Given the description of an element on the screen output the (x, y) to click on. 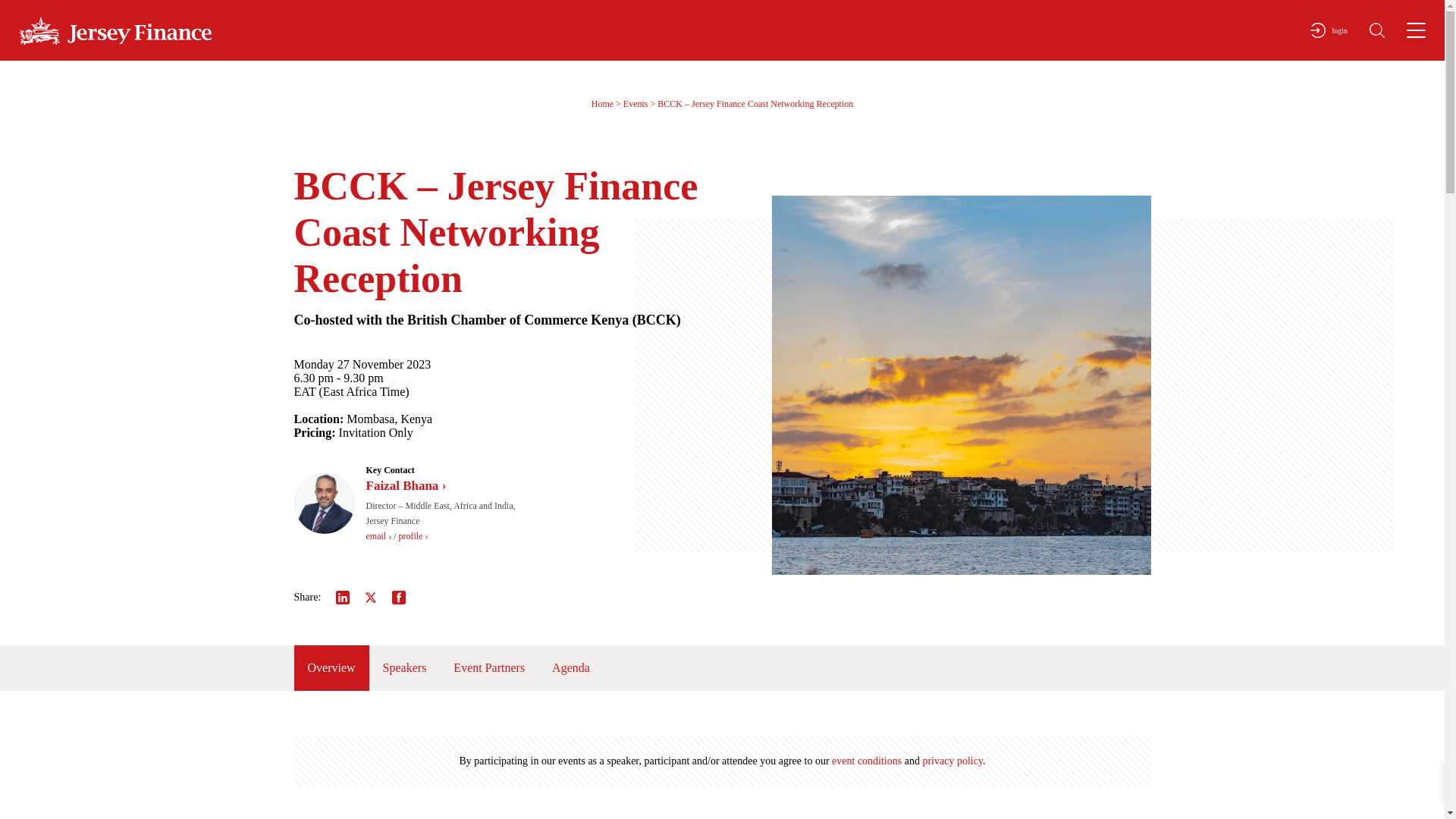
login (1329, 29)
